Given the description of an element on the screen output the (x, y) to click on. 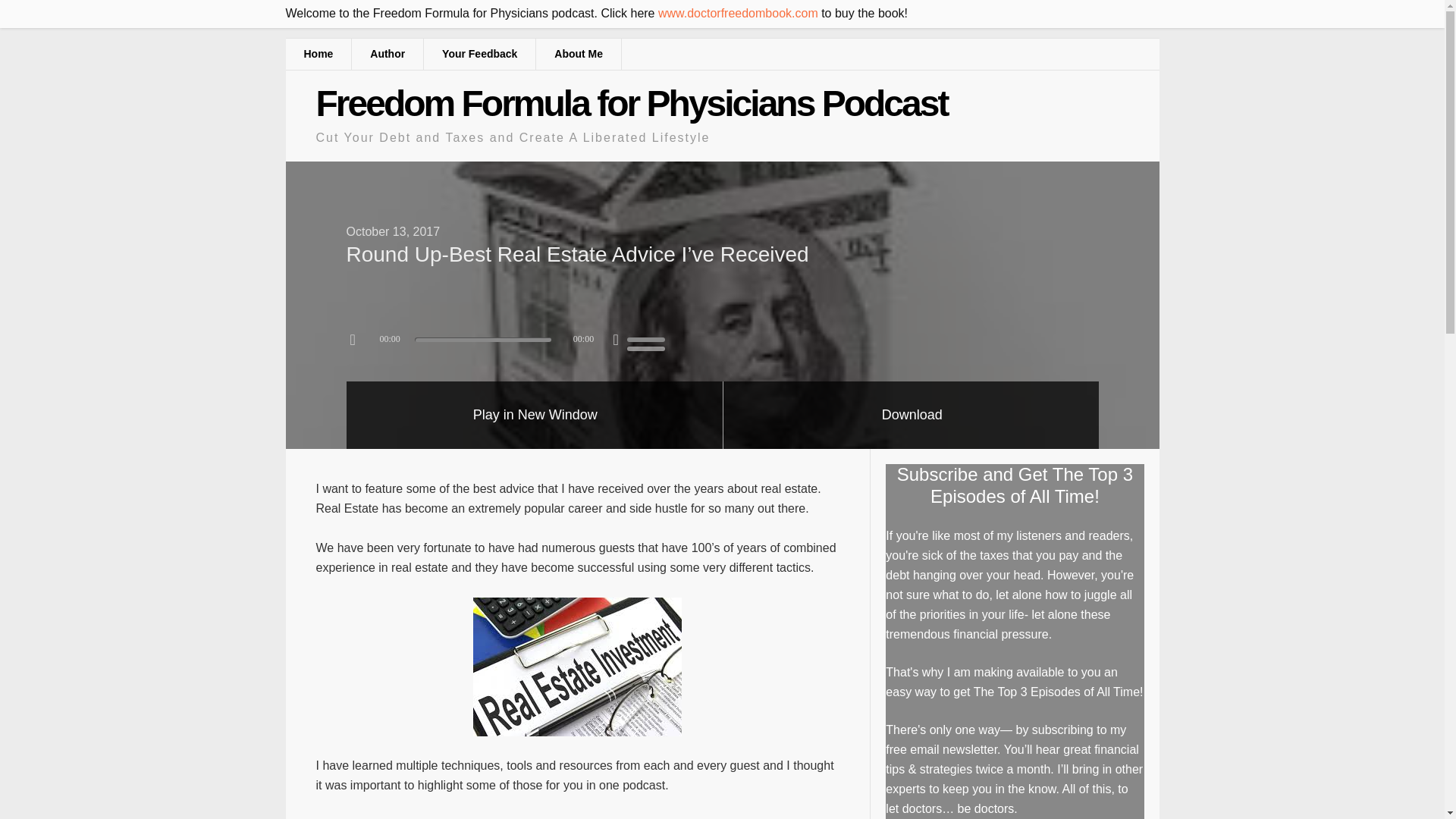
Play in New Window (535, 414)
Download (911, 414)
Your Feedback (479, 53)
Mute (615, 339)
Freedom Formula for Physicians Podcast (631, 103)
Author (387, 53)
About Me (578, 53)
Play in New Window (535, 414)
www.doctorfreedombook.com (738, 12)
Download (911, 414)
